Given the description of an element on the screen output the (x, y) to click on. 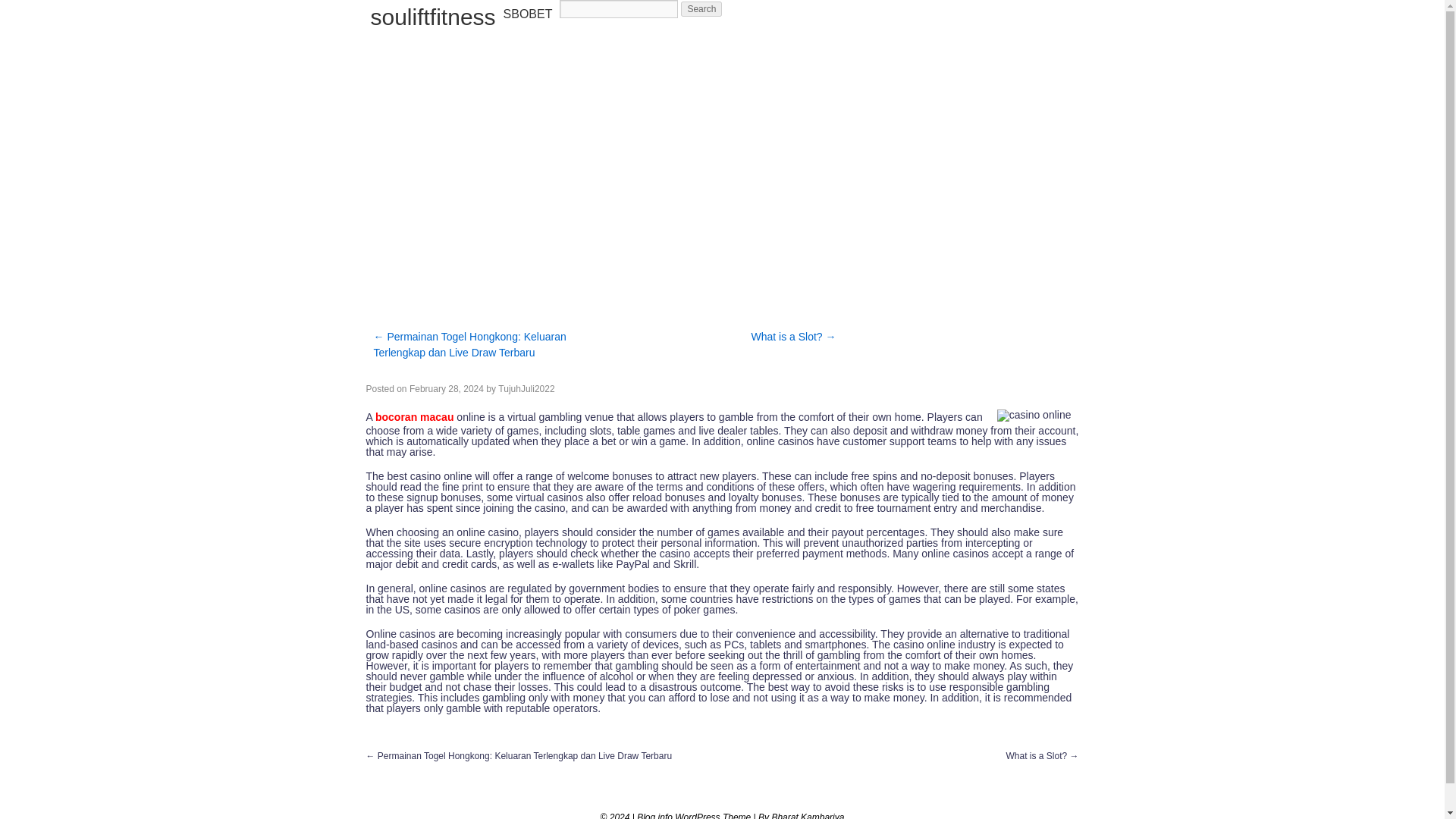
View all posts by TujuhJuli2022 (525, 388)
bocoran macau (413, 417)
SBOBET (528, 14)
TujuhJuli2022 (525, 388)
February 28, 2024 (446, 388)
Search (701, 8)
Search (701, 8)
1:29 pm (446, 388)
souliftfitness (432, 16)
